Given the description of an element on the screen output the (x, y) to click on. 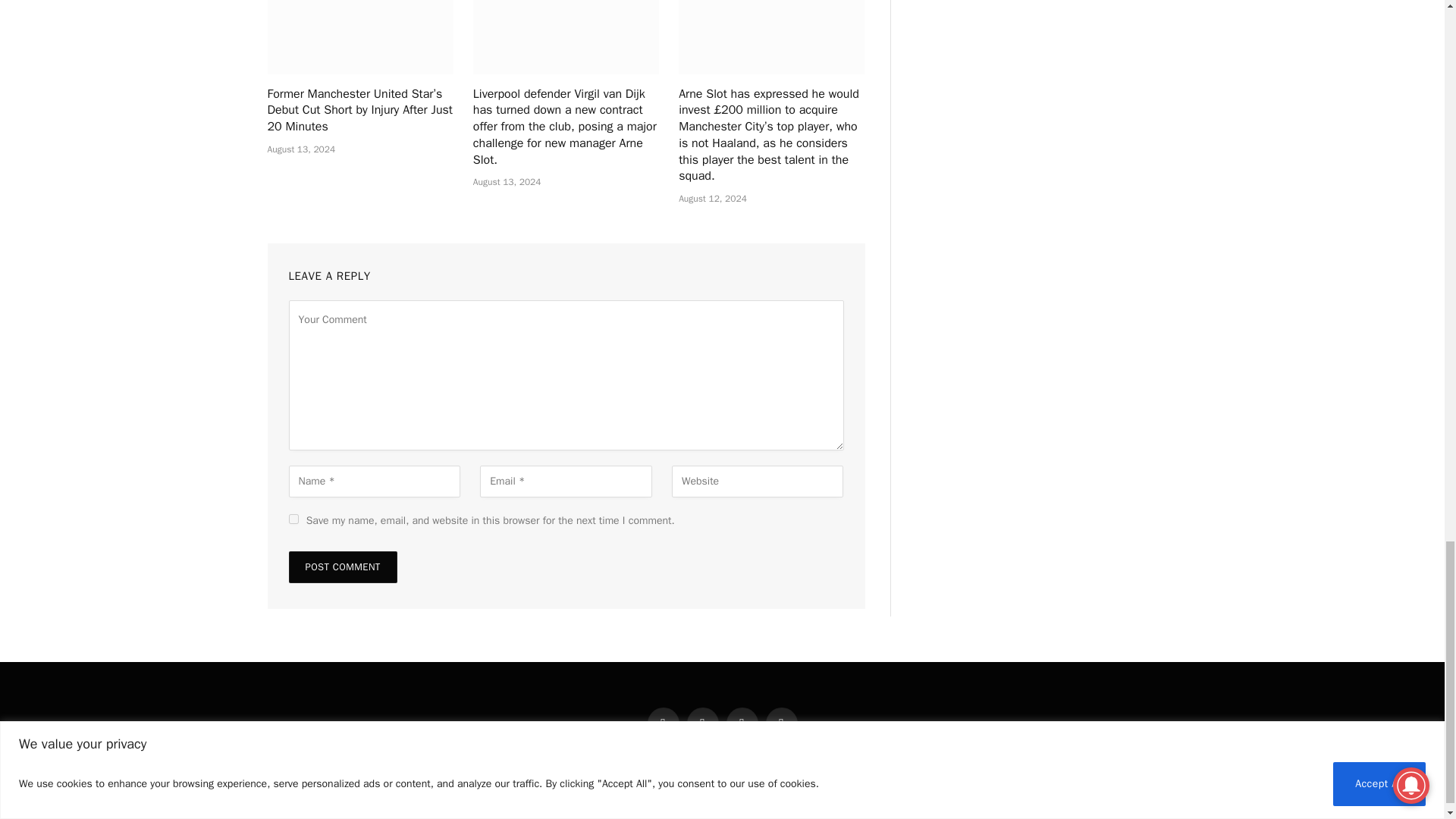
yes (293, 519)
Post Comment (342, 567)
